Given the description of an element on the screen output the (x, y) to click on. 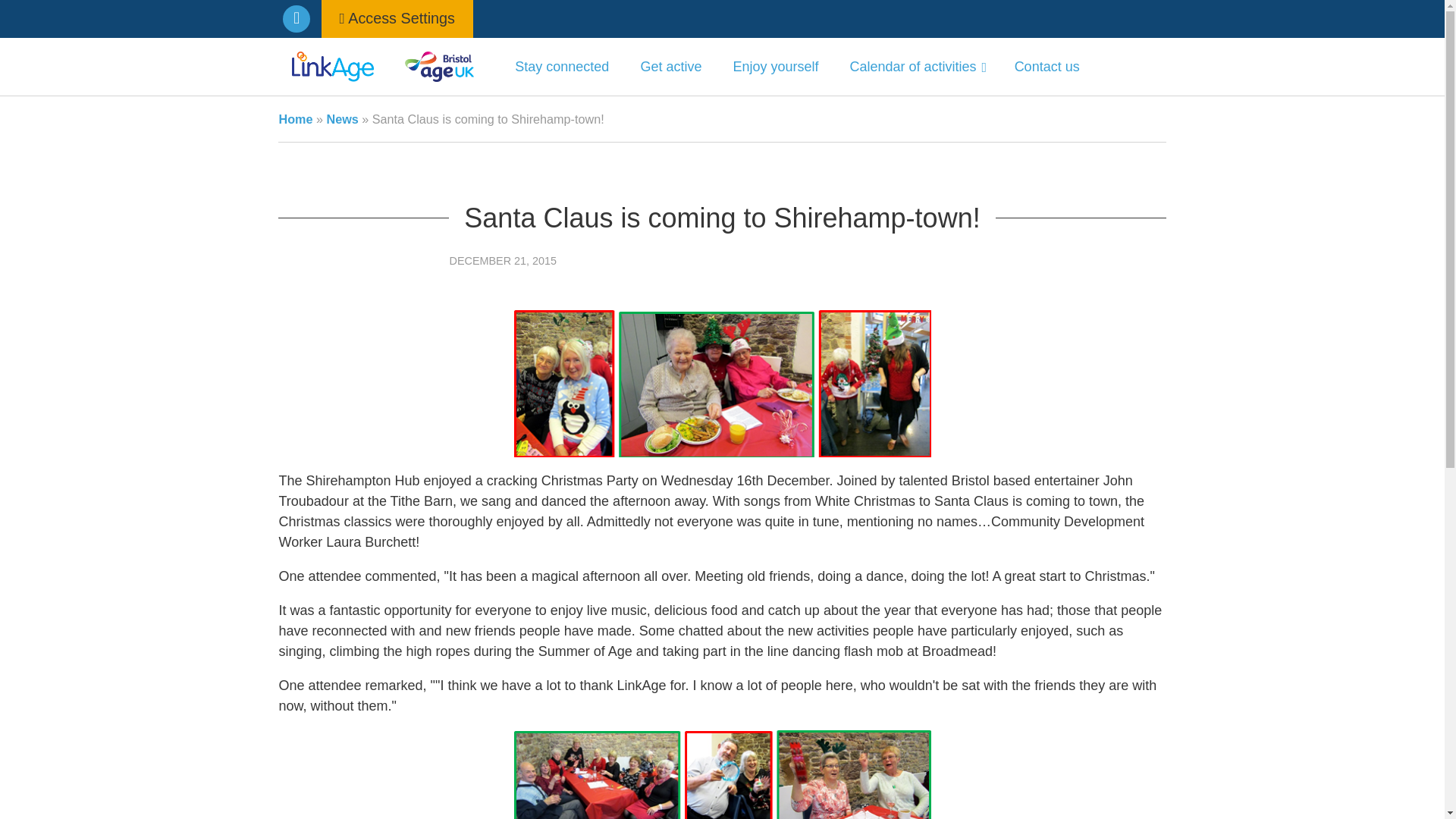
Contact us (1047, 66)
News (342, 119)
Home (295, 119)
Enjoy yourself (775, 66)
Calendar of activities (916, 66)
Stay connected (561, 66)
Access Settings (397, 18)
Get active (670, 66)
